Given the description of an element on the screen output the (x, y) to click on. 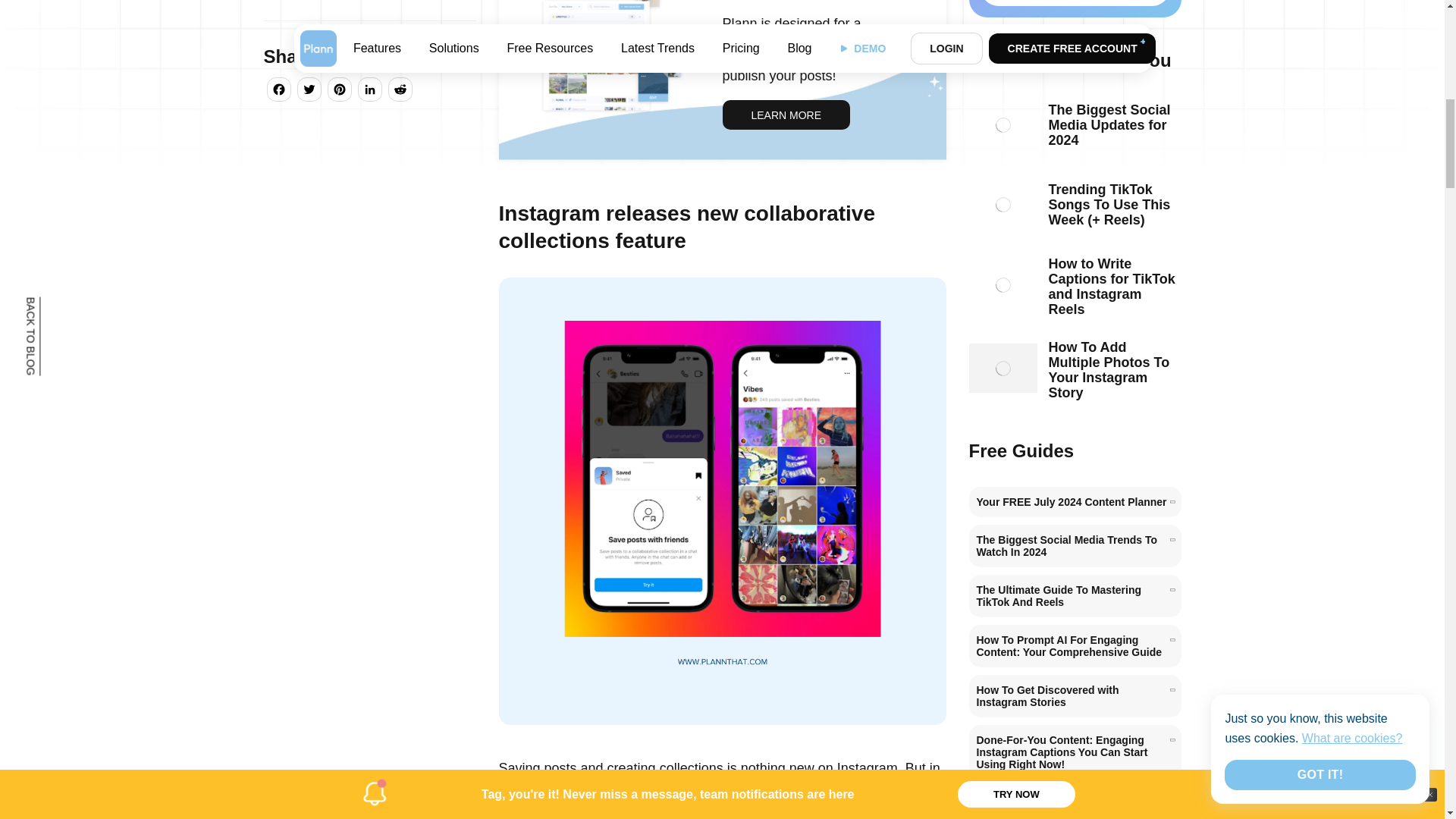
LinkedIn (370, 91)
Reddit (399, 91)
Twitter (309, 91)
Pinterest (339, 91)
Facebook (278, 91)
